Given the description of an element on the screen output the (x, y) to click on. 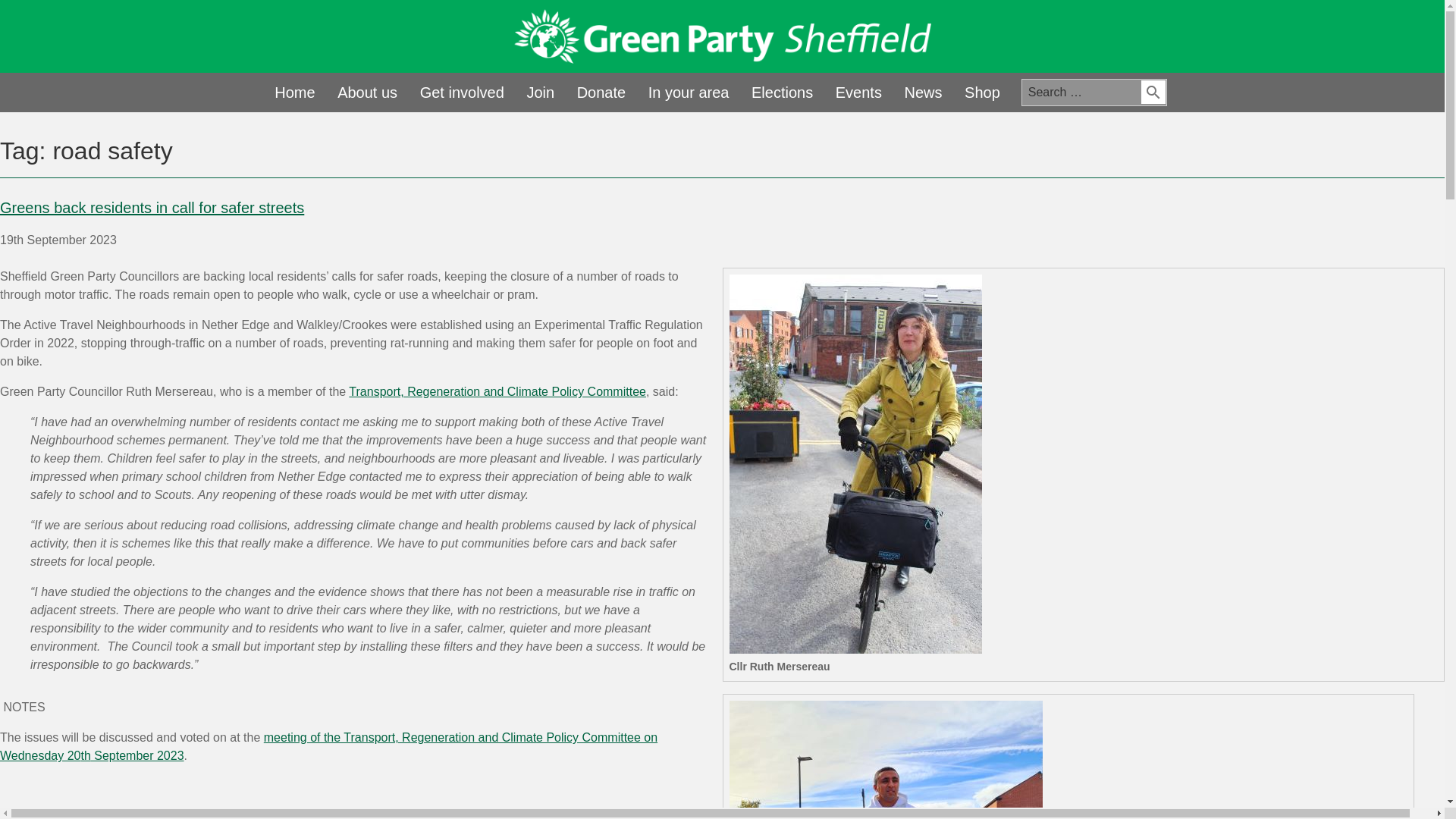
About us (367, 92)
In your area (688, 92)
Join (539, 92)
News (922, 92)
Transport, Regeneration and Climate Policy Committee (497, 391)
Search (1153, 92)
Home (293, 92)
Instagram (1169, 37)
Shop (982, 92)
